Given the description of an element on the screen output the (x, y) to click on. 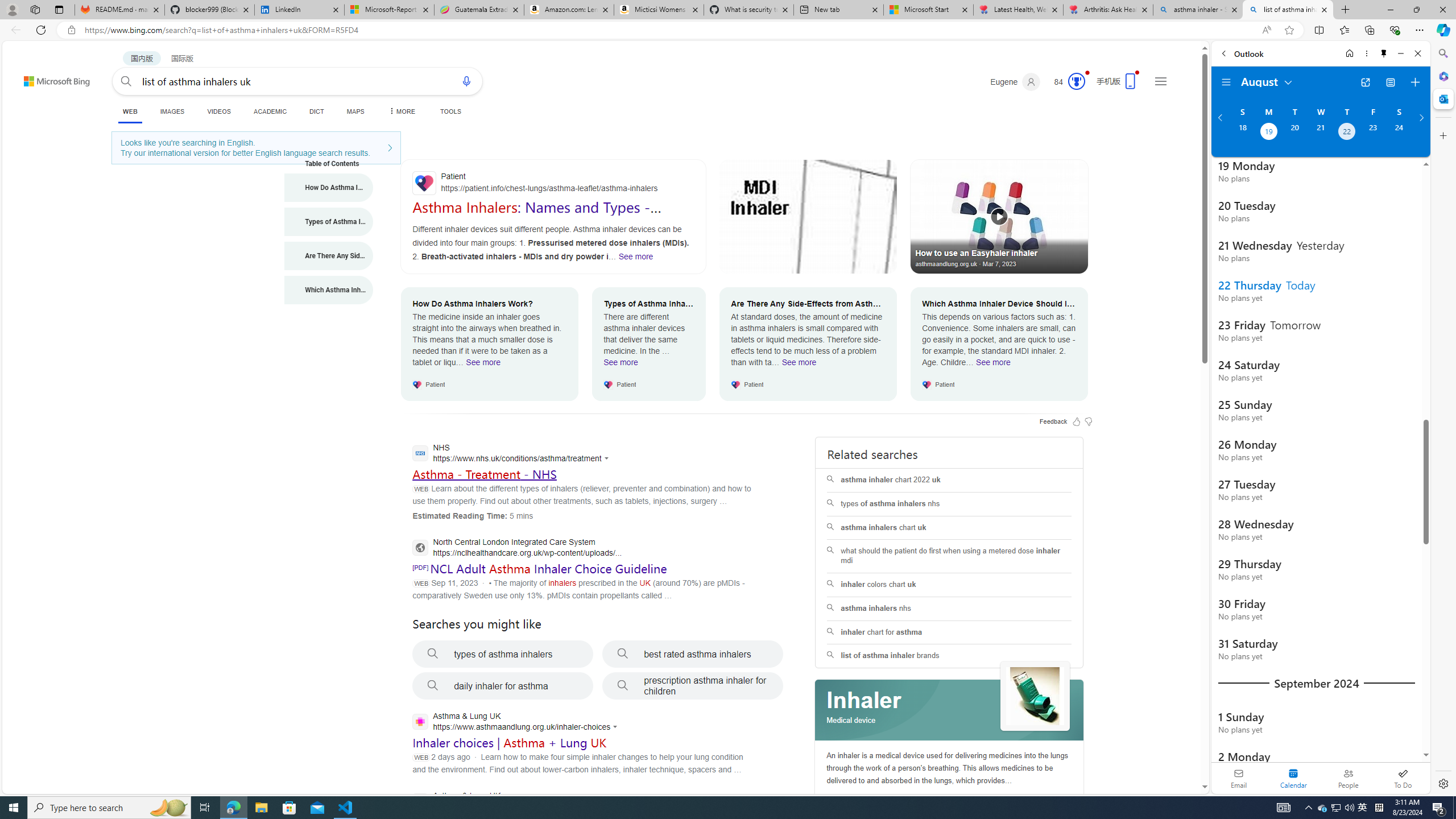
NCL Adult Asthma Inhaler Choice Guideline (547, 568)
Class: spl_logobg (949, 710)
Create event (1414, 82)
WEB (129, 112)
WEB (129, 111)
DICT (316, 111)
inhaler chart for asthma (949, 632)
